Given the description of an element on the screen output the (x, y) to click on. 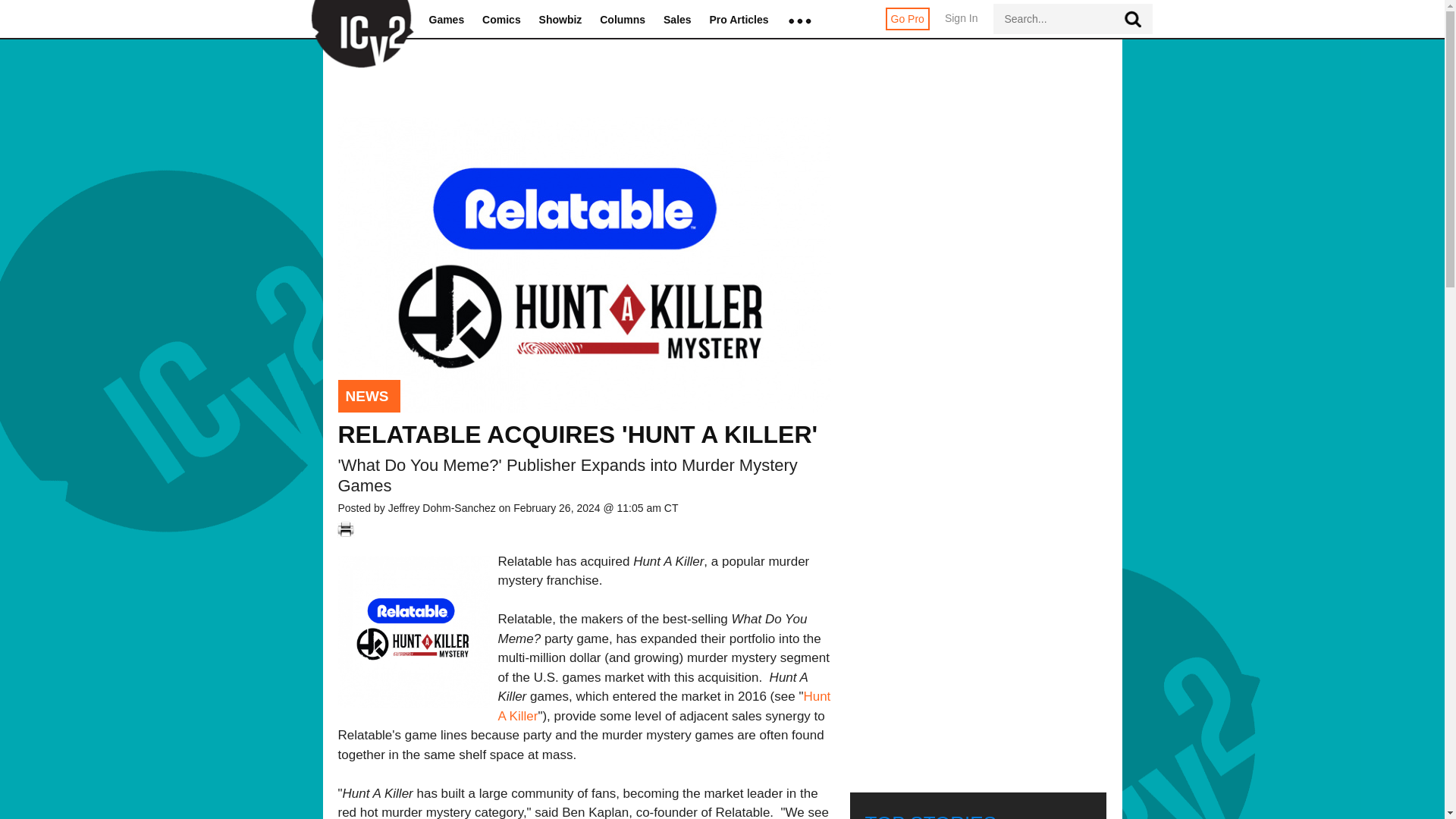
Sales (677, 20)
Sign In (961, 25)
Showbiz (560, 20)
Comics (501, 20)
Pro Articles (739, 20)
Columns (622, 20)
Hunt A Killer (663, 706)
RELATABLE ACQUIRES 'HUNT A KILLER' (577, 433)
Go Pro (907, 18)
Games (446, 20)
